Given the description of an element on the screen output the (x, y) to click on. 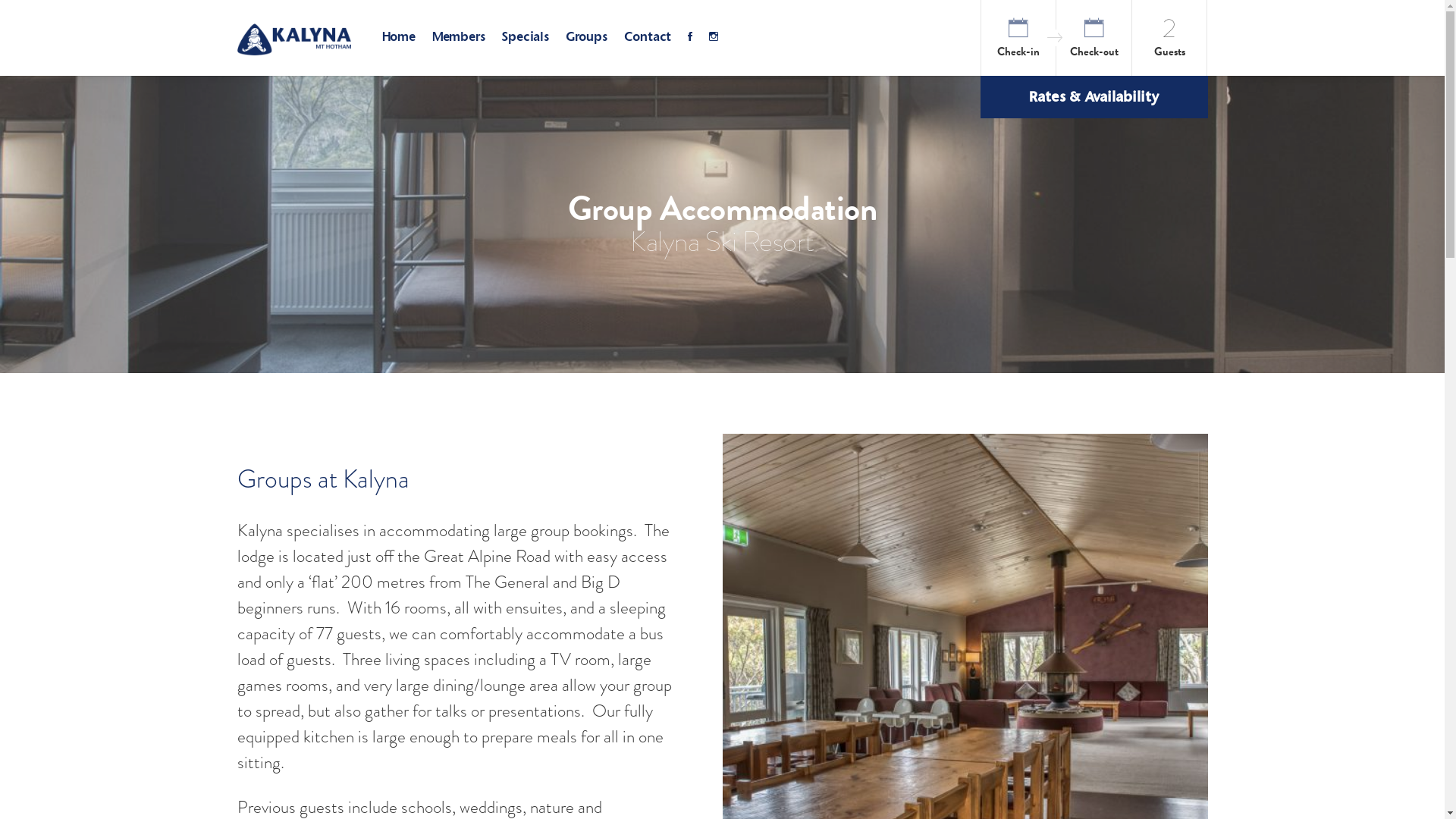
Rates & Availability Element type: text (1093, 96)
Members Element type: text (458, 37)
Contact Element type: text (647, 37)
Specials Element type: text (524, 37)
Groups Element type: text (586, 37)
Home Element type: text (398, 37)
